Given the description of an element on the screen output the (x, y) to click on. 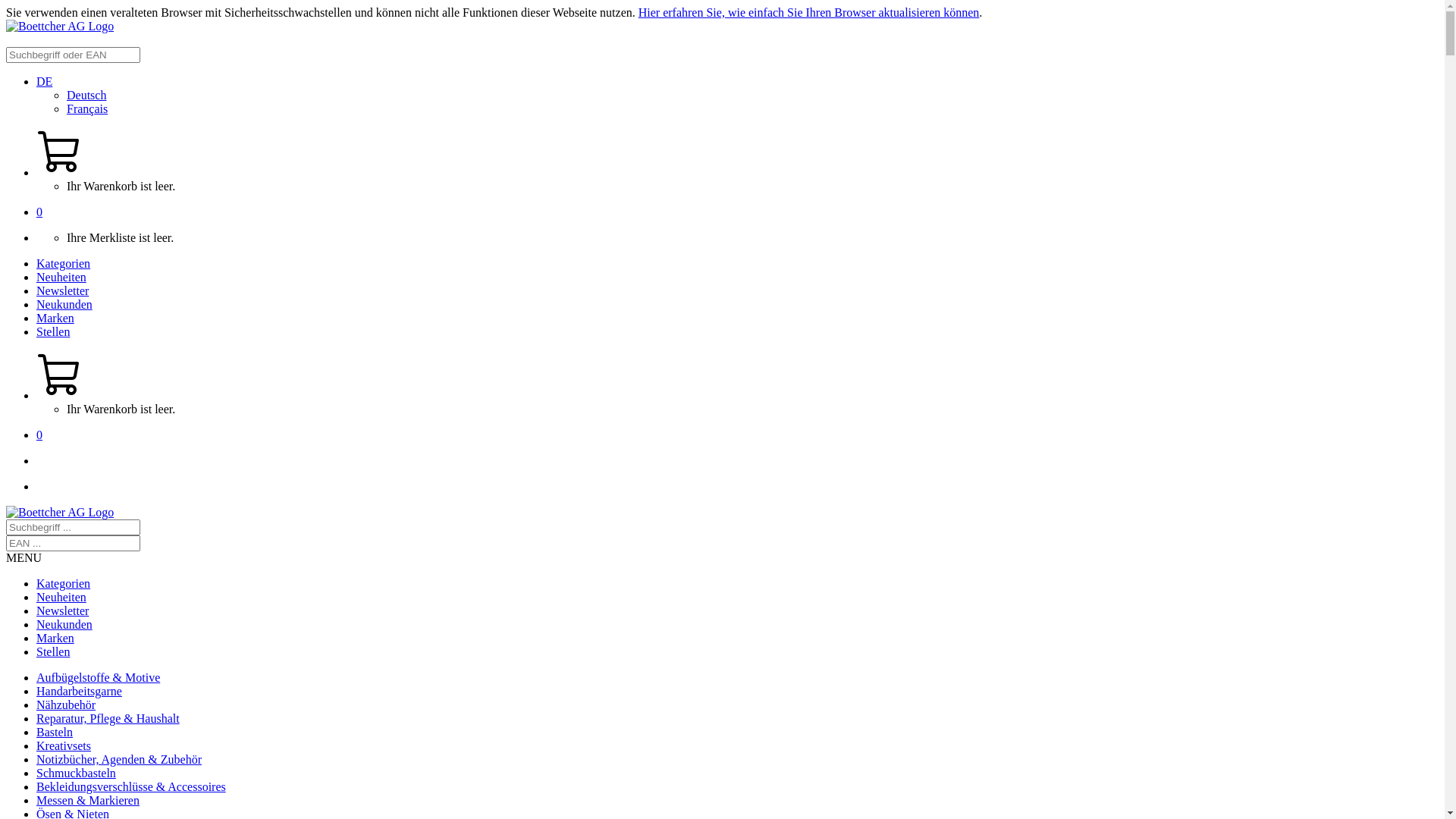
Newsletter Element type: text (62, 290)
Deutsch Element type: text (86, 94)
Warenkorb Element type: hover (60, 172)
Marken Element type: text (55, 637)
Neukunden Element type: text (64, 624)
Handarbeitsgarne Element type: text (79, 690)
0 Element type: text (39, 211)
Basteln Element type: text (54, 731)
Reparatur, Pflege & Haushalt Element type: text (107, 718)
Neuheiten Element type: text (61, 596)
Neukunden Element type: text (64, 304)
Home Element type: hover (59, 511)
Stellen Element type: text (52, 331)
Home Element type: hover (59, 25)
Kategorien Element type: text (63, 583)
Kreativsets Element type: text (63, 745)
Warenkorb Element type: hover (60, 395)
0 Element type: text (39, 434)
Schmuckbasteln Element type: text (76, 772)
MENU Element type: text (23, 557)
Kategorien Element type: text (63, 263)
Messen & Markieren Element type: text (87, 799)
DE Element type: text (44, 81)
Marken Element type: text (55, 317)
Newsletter Element type: text (62, 610)
Neuheiten Element type: text (61, 276)
Stellen Element type: text (52, 651)
